Given the description of an element on the screen output the (x, y) to click on. 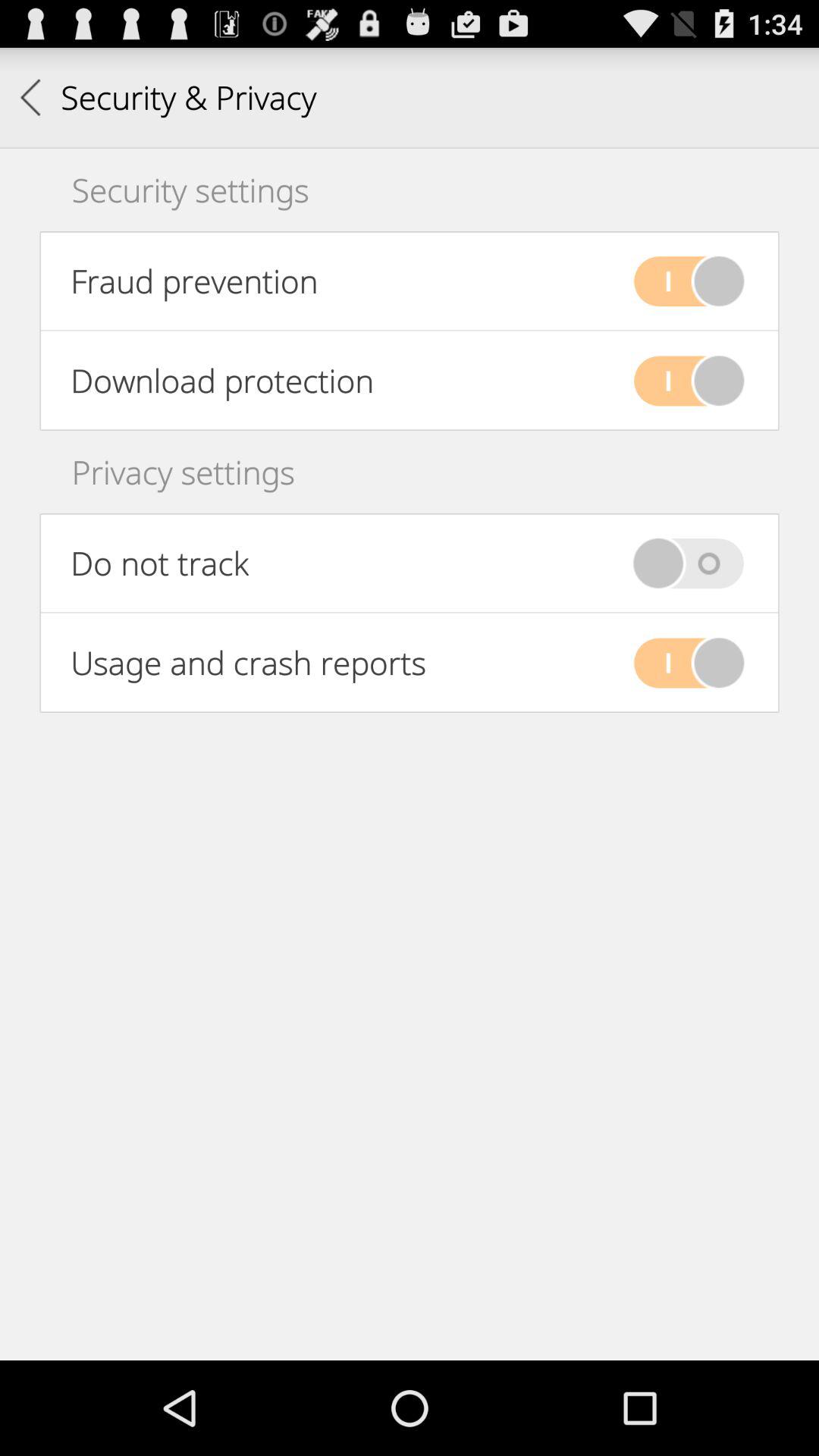
turn off the security & privacy icon (168, 97)
